Given the description of an element on the screen output the (x, y) to click on. 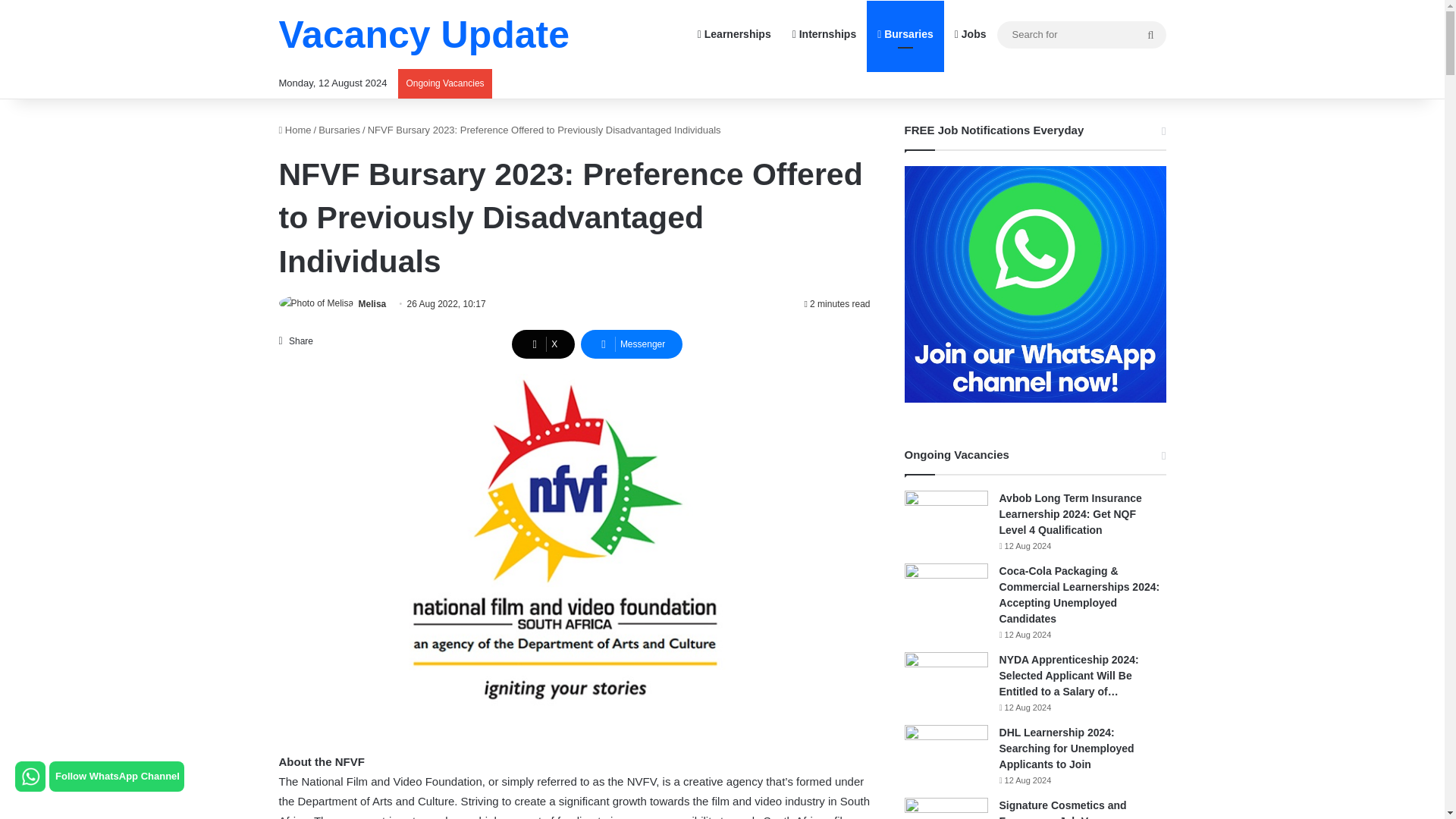
Bursaries (338, 129)
Learnerships (734, 33)
Bursaries (904, 33)
Melisa (372, 303)
Messenger (631, 344)
Home (295, 129)
Internships (823, 33)
Messenger (631, 344)
Search for (1150, 34)
Vacancy Update (424, 34)
